Given the description of an element on the screen output the (x, y) to click on. 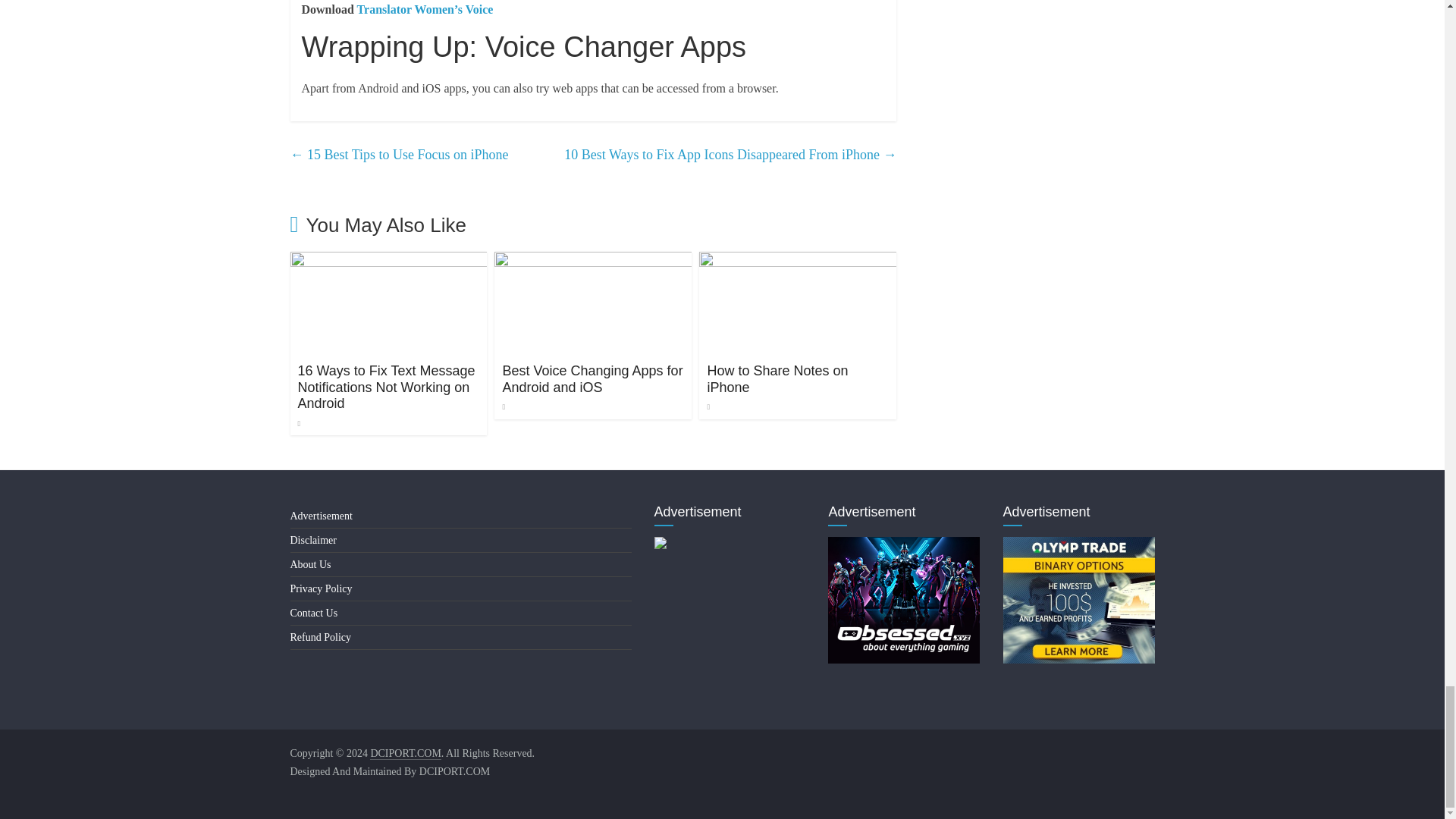
How to Share Notes on iPhone (776, 378)
How to Share Notes on iPhone (797, 260)
Best Voice Changing Apps for Android and iOS (592, 378)
Best Voice Changing Apps for Android and iOS (593, 260)
